Given the description of an element on the screen output the (x, y) to click on. 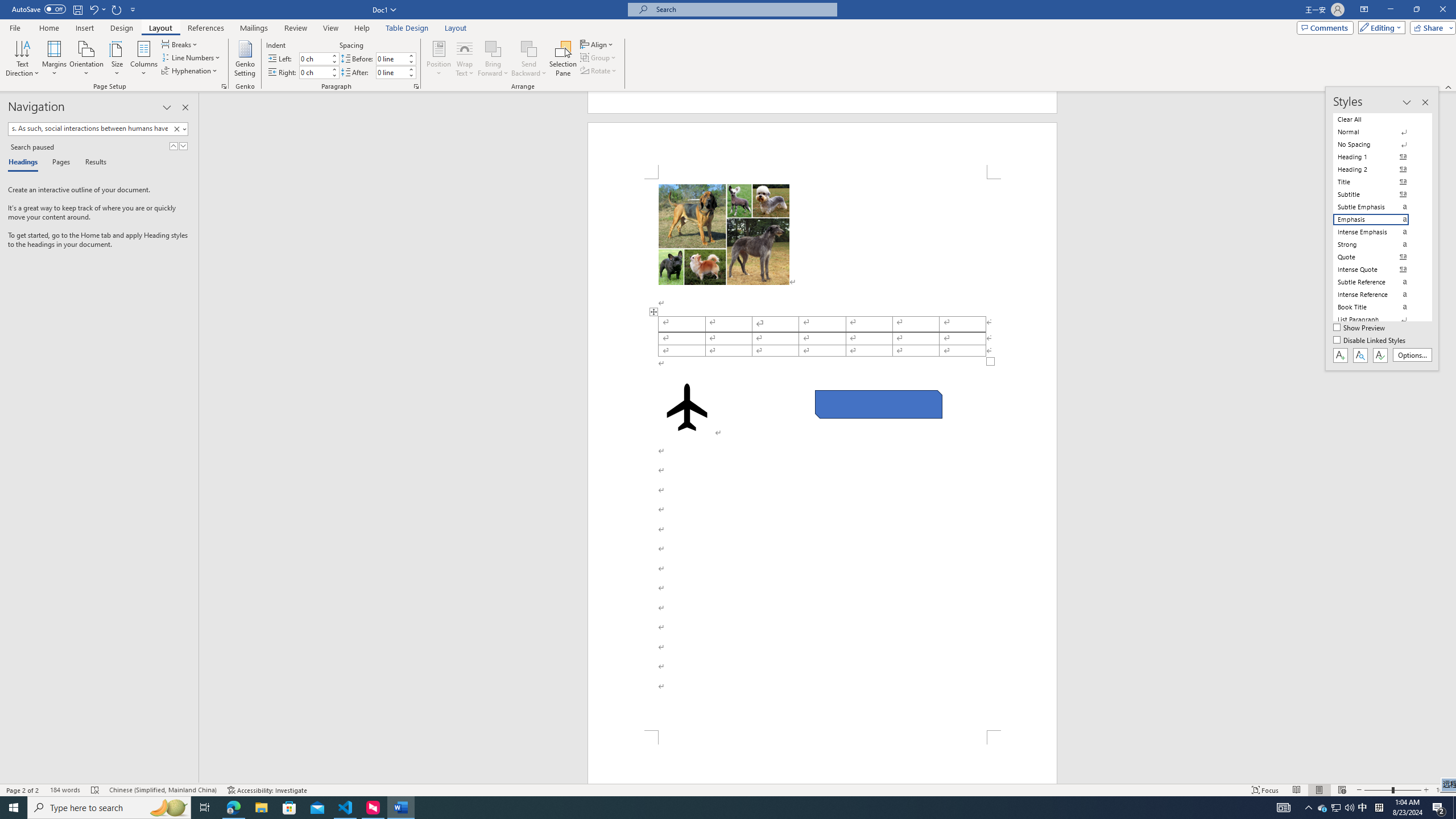
Repeat Style (117, 9)
Spacing After (391, 72)
Orientation (86, 58)
No Spacing (1377, 144)
